Given the description of an element on the screen output the (x, y) to click on. 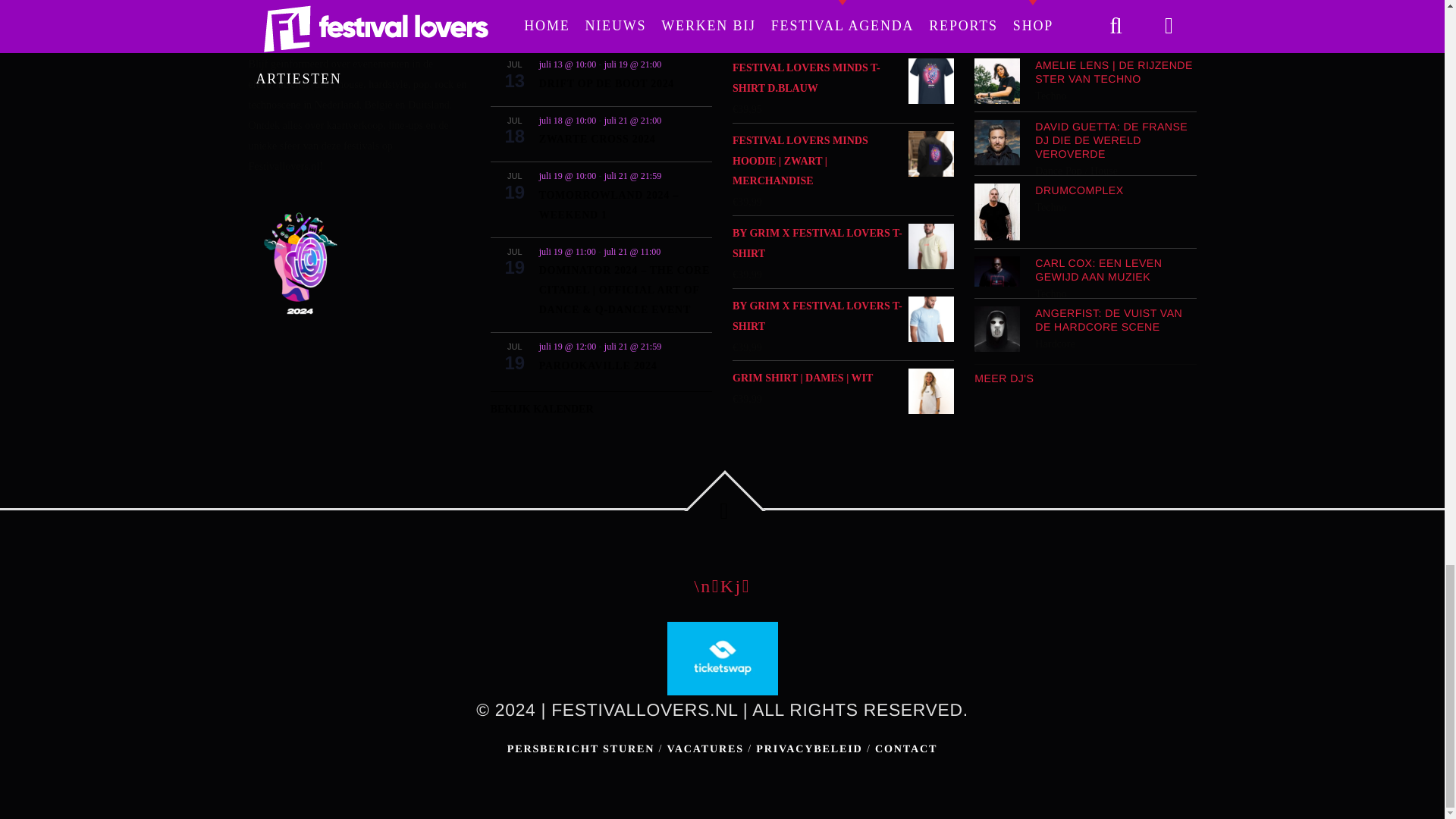
Bekijk meer evenementen. (600, 405)
PAROOKAVILLE 2024 (598, 366)
Zwarte Cross 2024 (597, 139)
Drift op de Boot 2024 (606, 83)
